Given the description of an element on the screen output the (x, y) to click on. 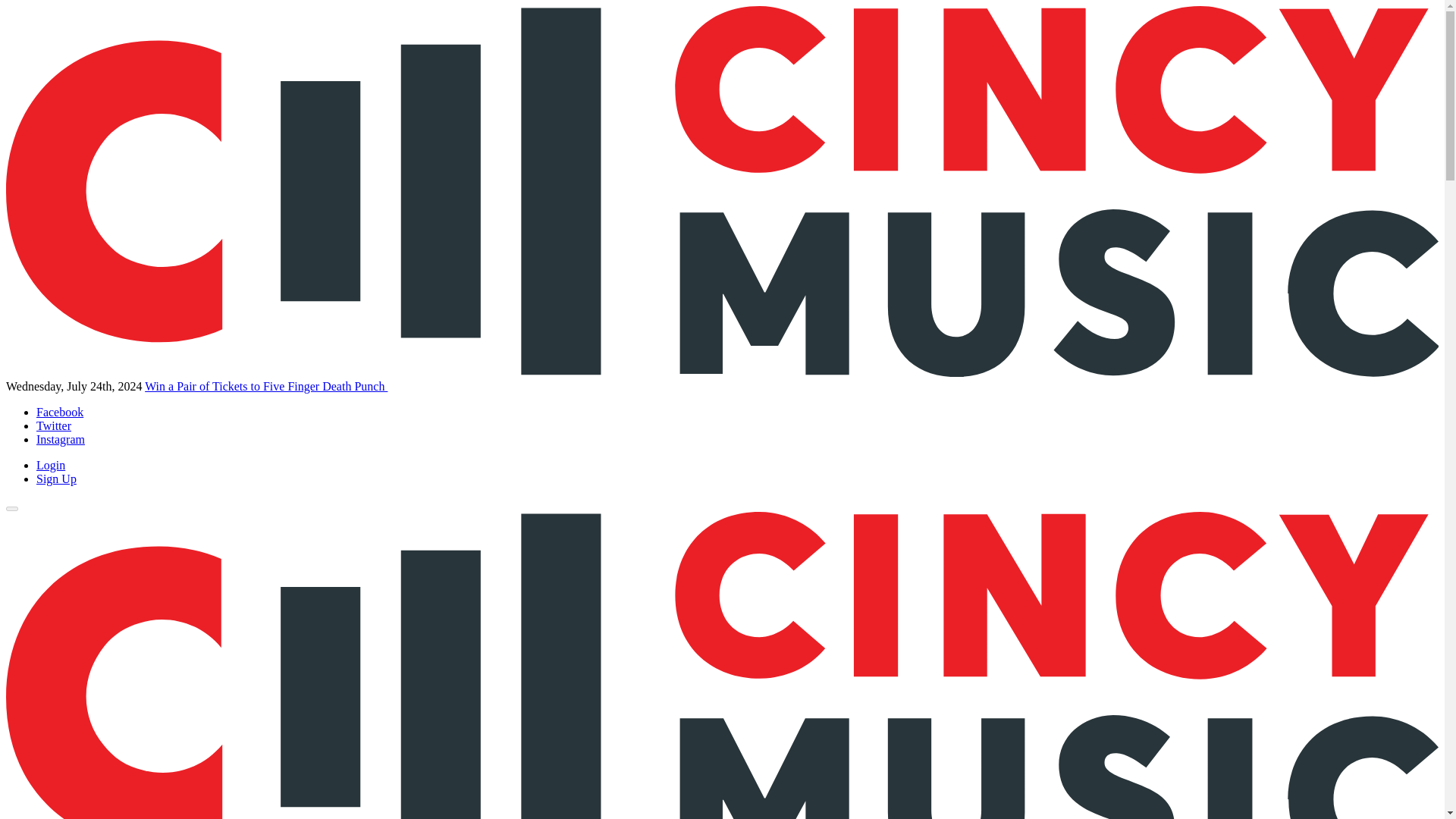
Sign Up (56, 478)
Login (50, 464)
Twitter (53, 425)
Win a Pair of Tickets to Five Finger Death Punch  (265, 386)
Facebook (59, 411)
Instagram (60, 439)
